Given the description of an element on the screen output the (x, y) to click on. 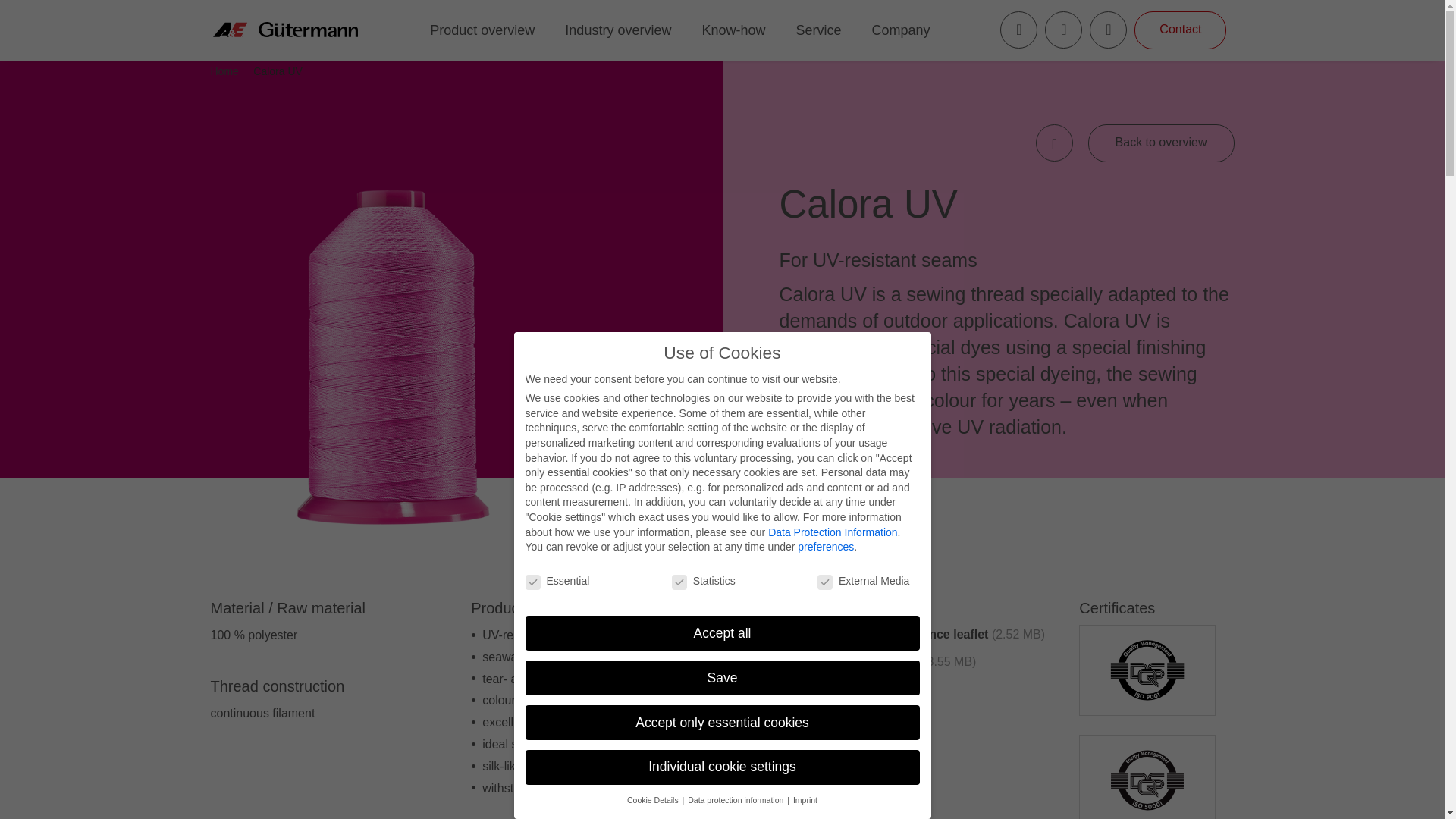
Know-how (733, 29)
Contact (1179, 30)
Company (901, 29)
Home (224, 70)
Open Cookie Preferences (1411, 791)
Wishlist (1063, 29)
Industry overview (617, 29)
Product overview (481, 29)
